Given the description of an element on the screen output the (x, y) to click on. 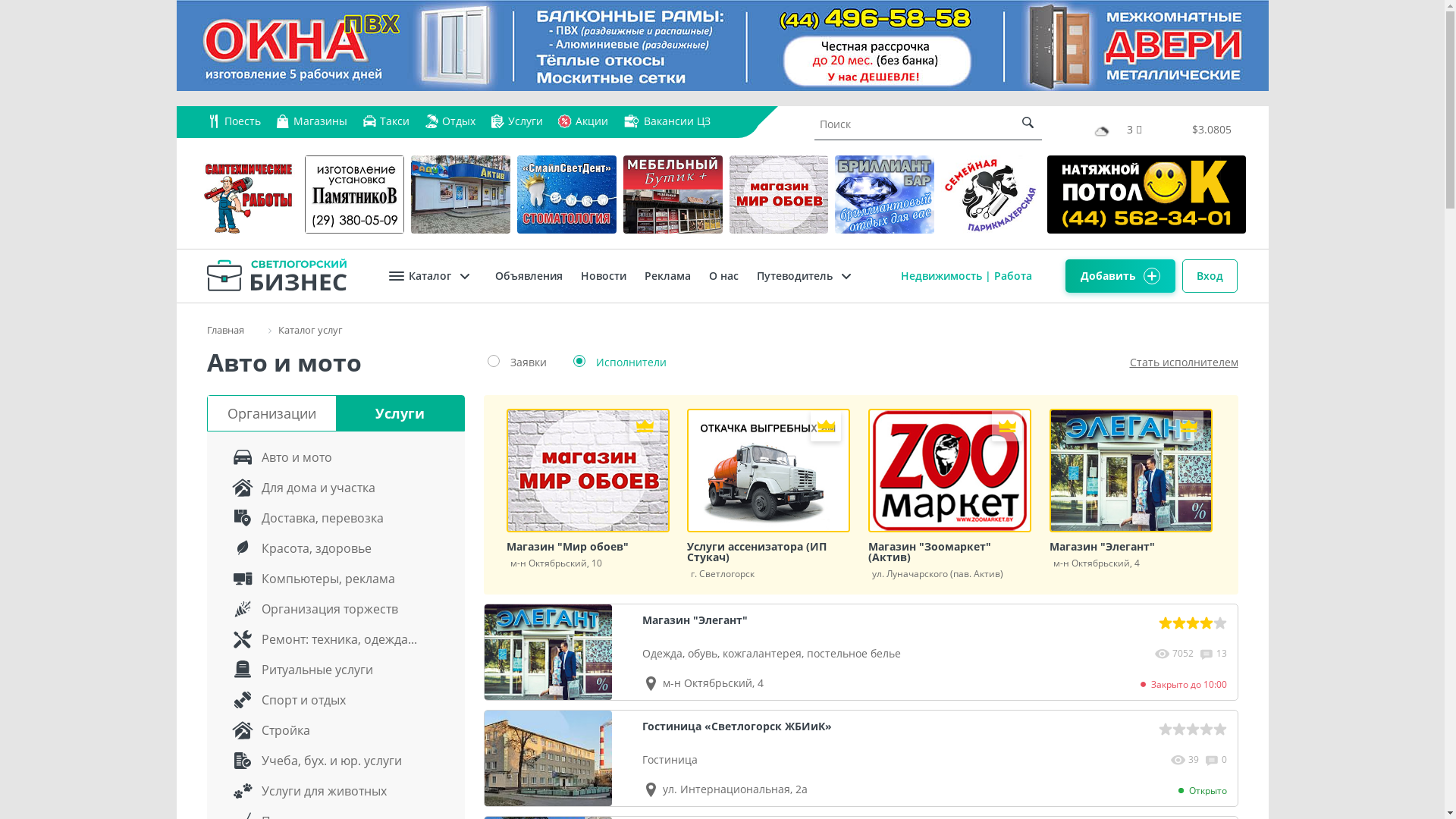
VIP Element type: hover (1187, 428)
VIP Element type: hover (1006, 428)
VIP Element type: hover (644, 428)
VIP Element type: hover (825, 428)
